Given the description of an element on the screen output the (x, y) to click on. 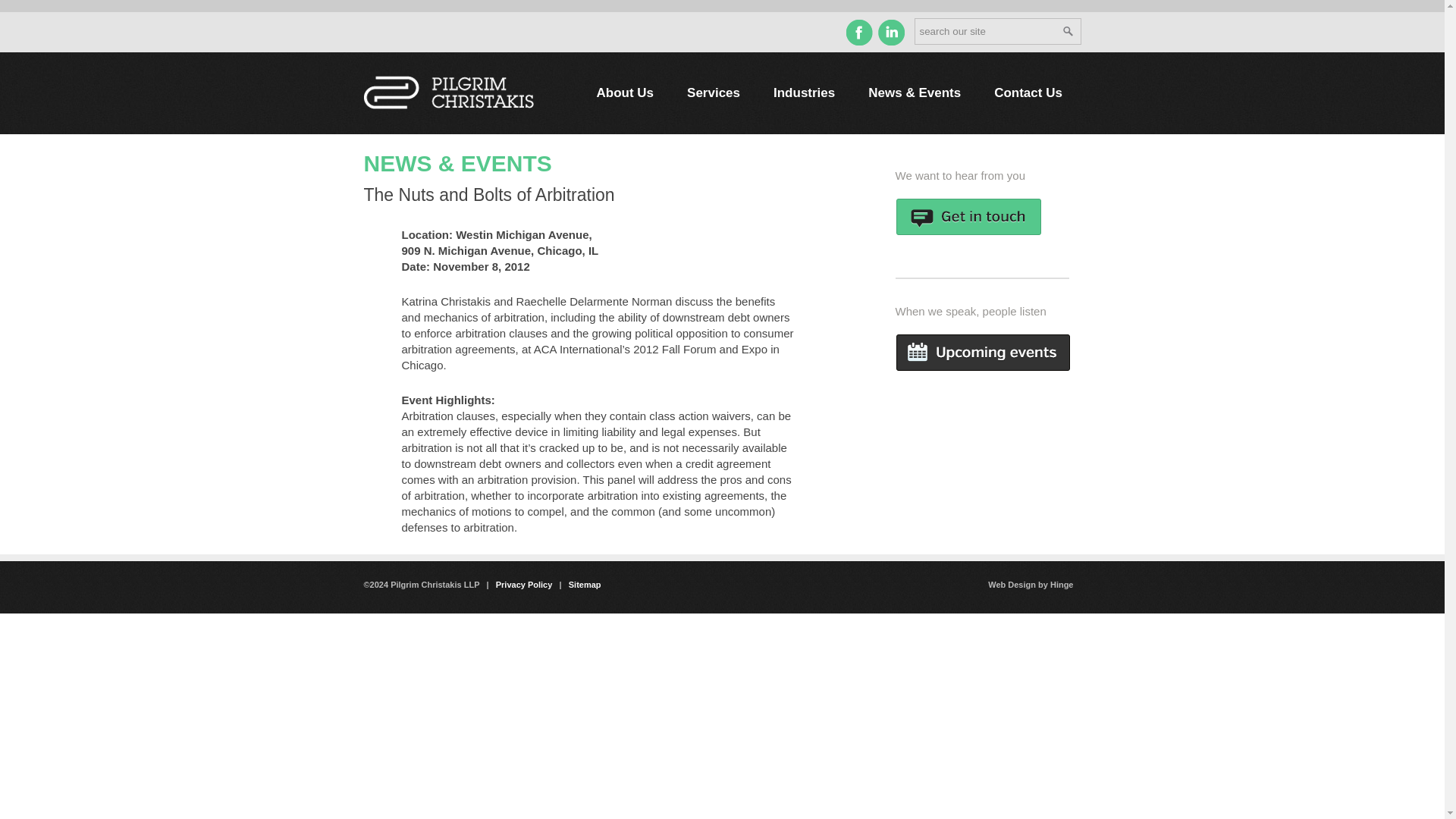
Privacy Policy (524, 583)
search our site (997, 31)
Services (713, 92)
Sitemap (585, 583)
Industries (804, 92)
About Us (624, 92)
Contact Us (1027, 92)
